Given the description of an element on the screen output the (x, y) to click on. 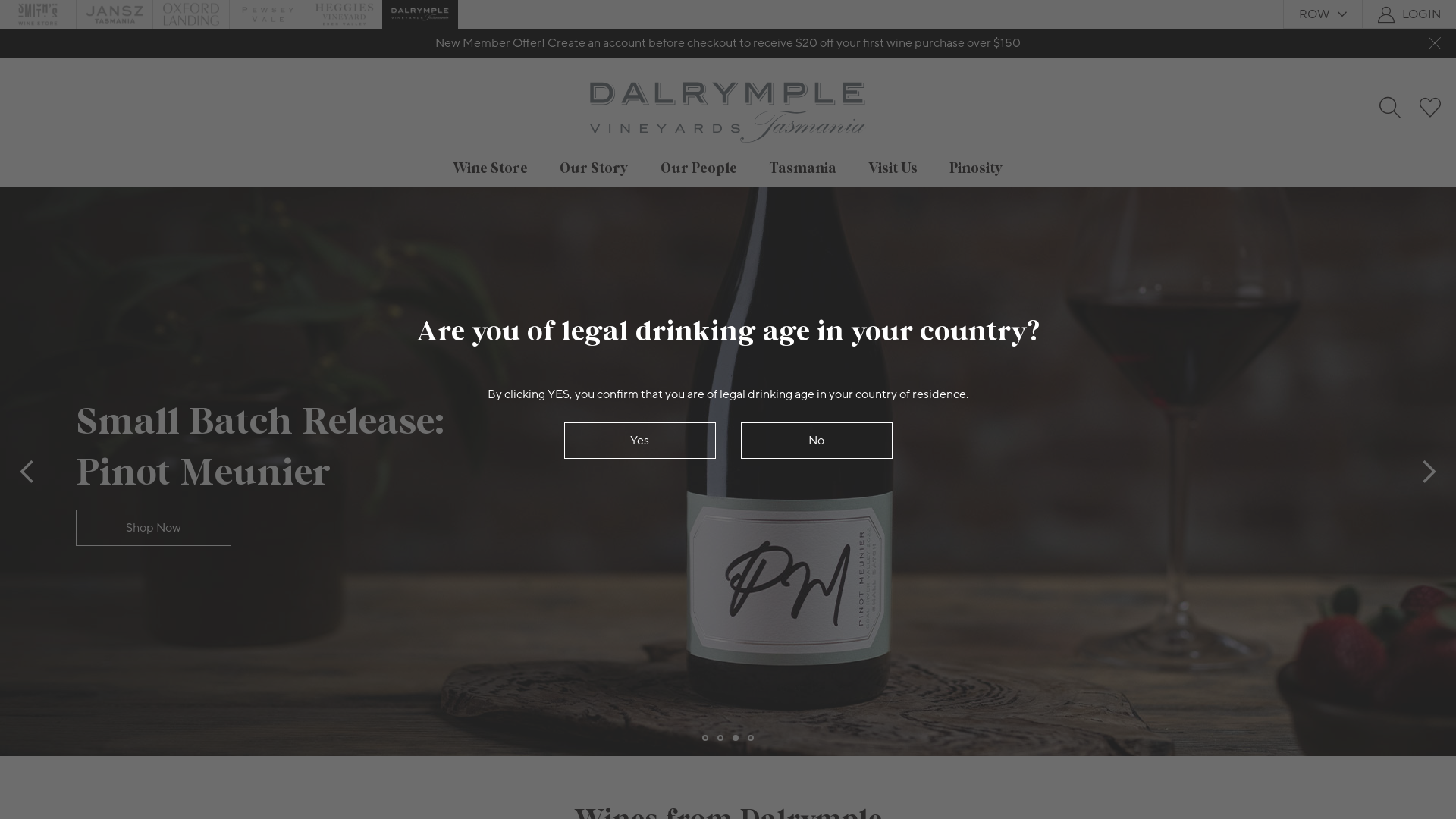
Pewsey Vale Vineyard Element type: hover (267, 14)
LOGIN Element type: text (1421, 14)
Our People Element type: text (698, 168)
Shop Now Element type: text (153, 527)
Oxford Landing Element type: hover (190, 14)
Oxford Landing Element type: hover (190, 14)
Yes Element type: text (639, 439)
Dalrymple Vineyards Element type: hover (419, 14)
No Element type: text (815, 439)
Pinosity Element type: text (976, 168)
3 Element type: text (735, 737)
2 Element type: text (720, 737)
Jansz Tasmania Element type: hover (114, 14)
Smiths Wine Store Element type: hover (37, 14)
4 Element type: text (750, 737)
Smiths Wine Store Element type: hover (37, 14)
Visit Us Element type: text (892, 168)
Pewsey Vale Vineyard Element type: hover (267, 14)
Our Story Element type: text (593, 168)
Heggies Vineyard Element type: hover (343, 14)
1 Element type: text (705, 737)
Tasmania Element type: text (802, 168)
Dalrymple Vineyards Element type: hover (419, 14)
Jansz Tasmania Element type: hover (114, 14)
Wine Store Element type: text (489, 168)
Heggies Vineyard Element type: hover (343, 14)
